Given the description of an element on the screen output the (x, y) to click on. 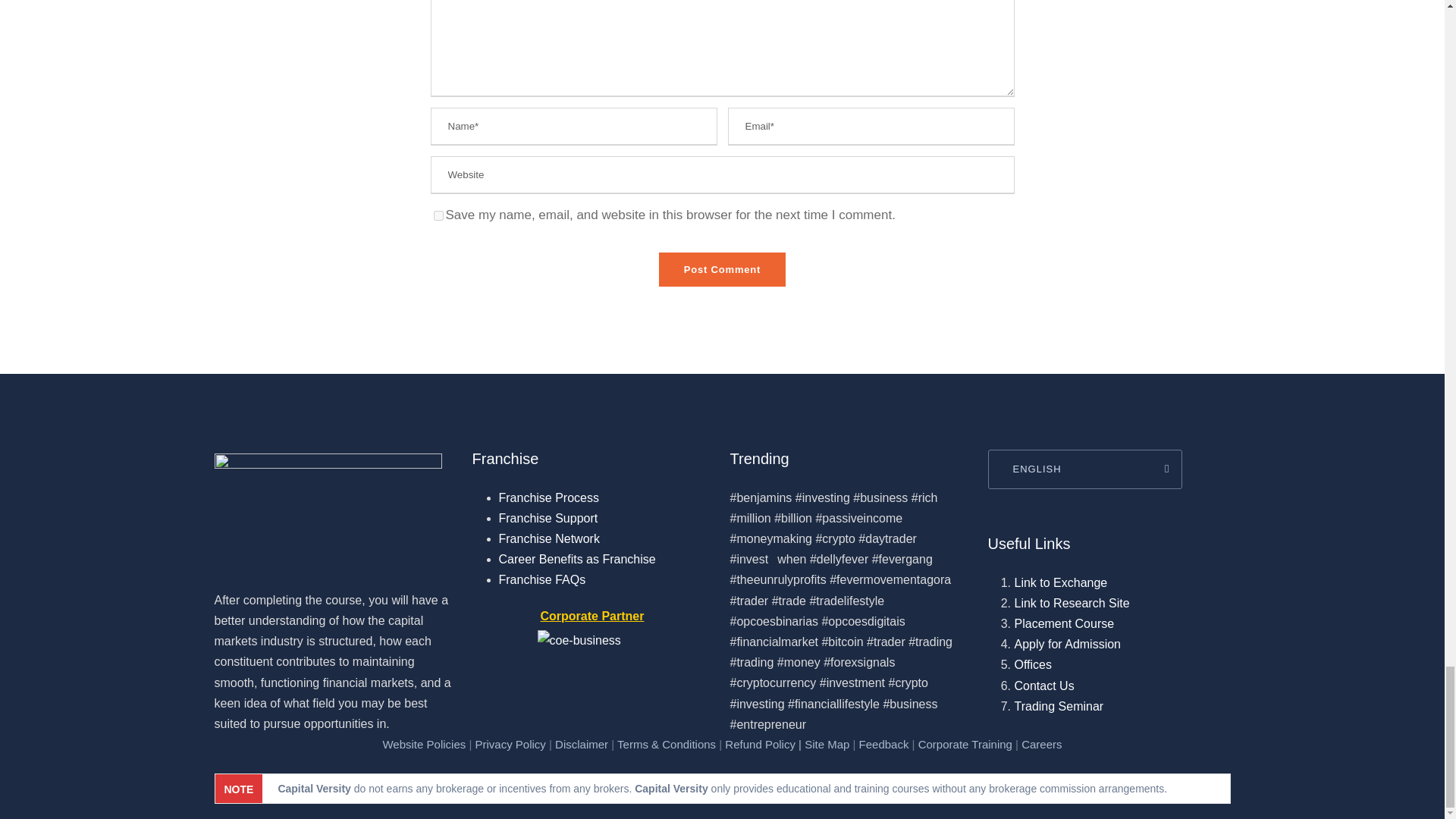
yes (438, 215)
Post Comment (722, 269)
coe-logo (592, 657)
